Given the description of an element on the screen output the (x, y) to click on. 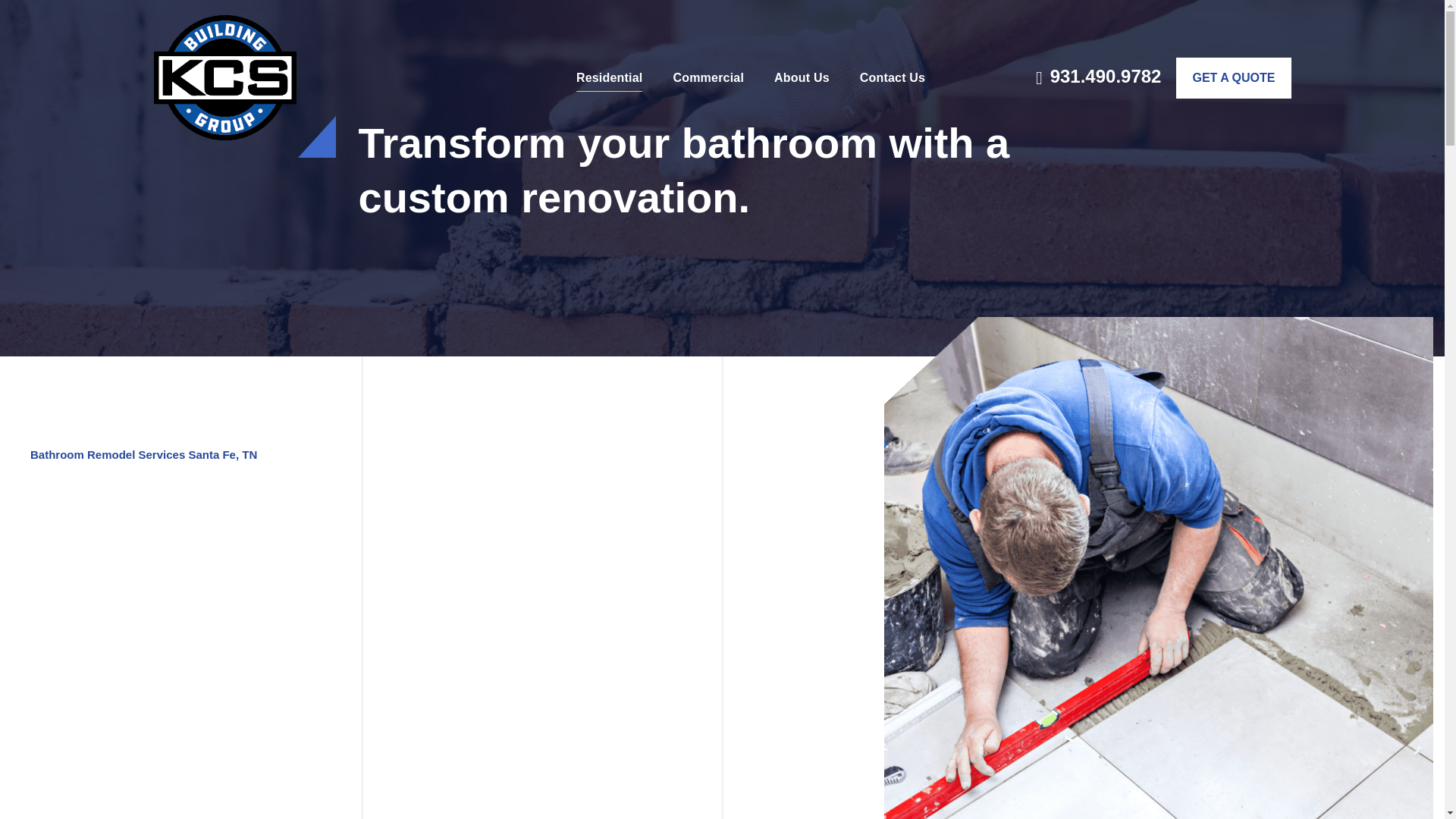
931.490.9782 (1098, 78)
Contact Us (892, 77)
About Us (801, 77)
Residential (609, 77)
Commercial (708, 77)
GET A QUOTE (1233, 77)
